Given the description of an element on the screen output the (x, y) to click on. 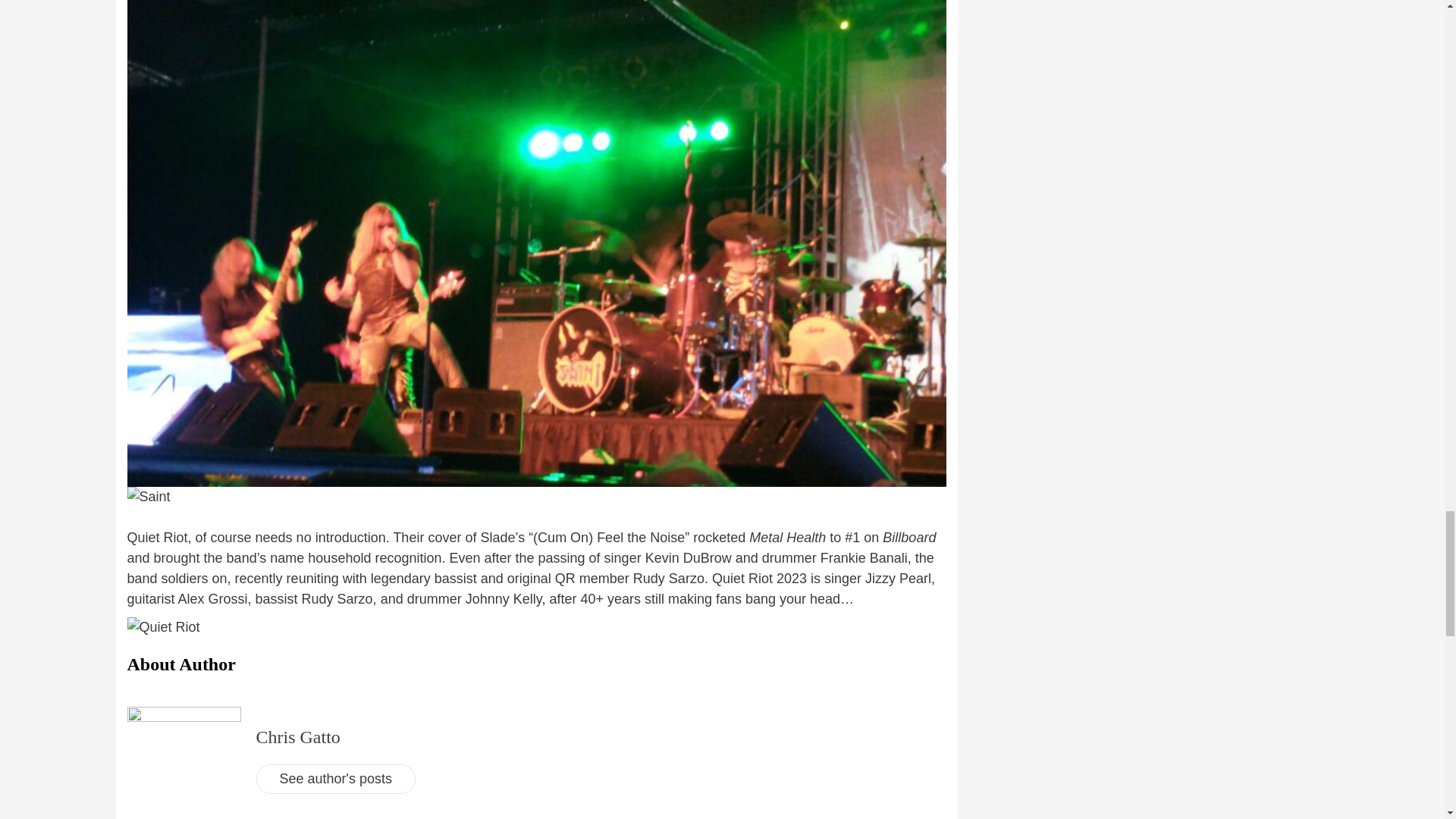
Chris Gatto (298, 736)
See author's posts (336, 778)
